Given the description of an element on the screen output the (x, y) to click on. 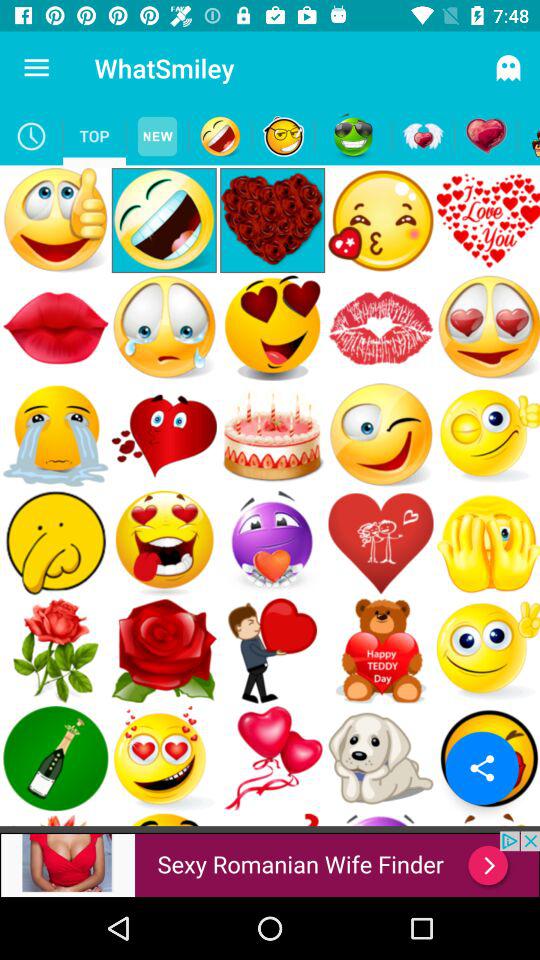
new option (157, 136)
